Given the description of an element on the screen output the (x, y) to click on. 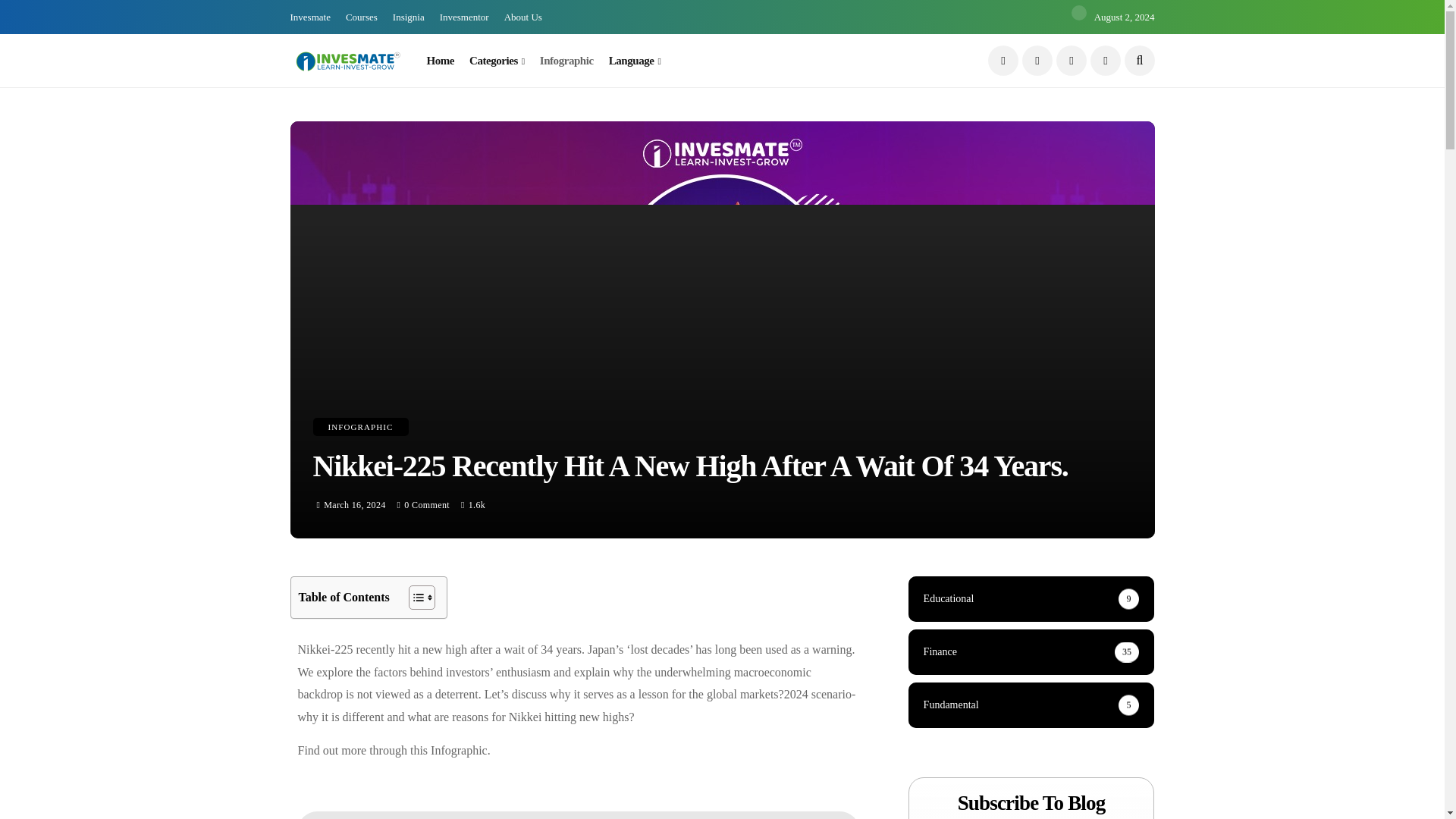
Invesmate (309, 17)
Insignia (409, 17)
INFOGRAPHIC (360, 426)
Courses (361, 17)
About Us (522, 17)
Categories (496, 60)
Invesmentor (464, 17)
Language (634, 60)
Infographic (567, 60)
